Given the description of an element on the screen output the (x, y) to click on. 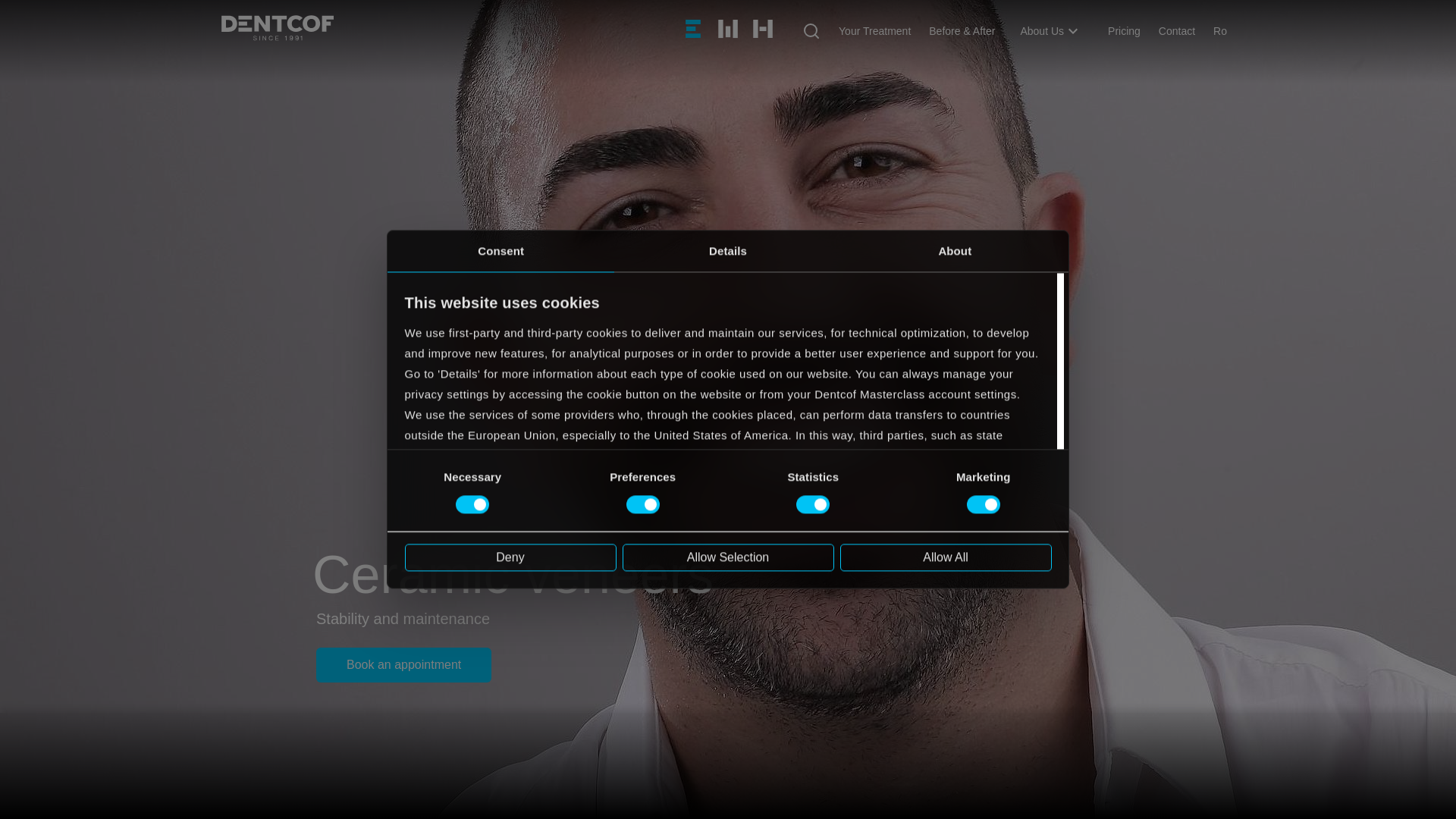
Deny (509, 556)
Allow Selection (726, 556)
Allow All (945, 556)
About (954, 250)
Details (727, 250)
Consent (500, 250)
Cookie Policy (441, 536)
